Given the description of an element on the screen output the (x, y) to click on. 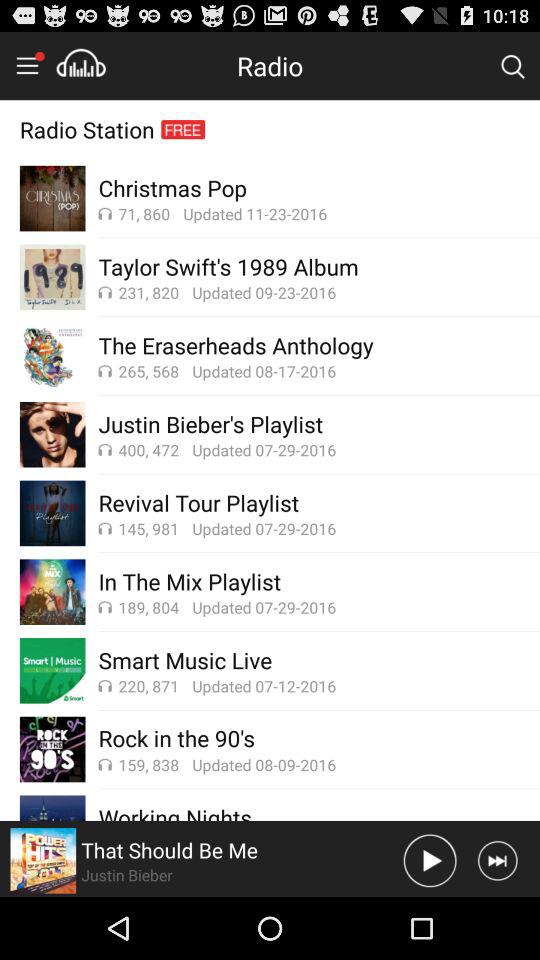
the music are reduce tension (81, 65)
